Given the description of an element on the screen output the (x, y) to click on. 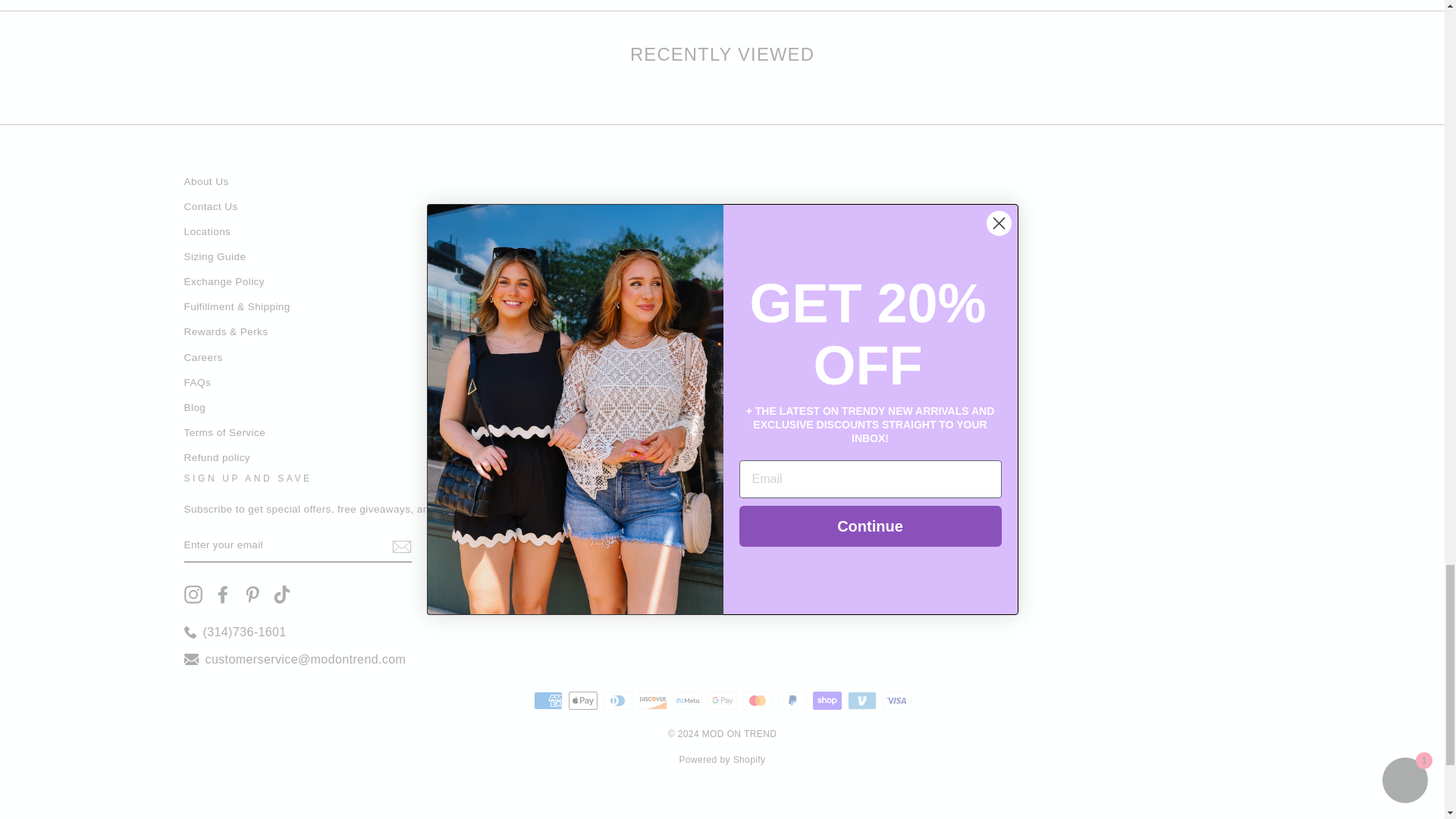
Discover (652, 700)
Diners Club (617, 700)
MOD ON TREND on TikTok (282, 594)
MOD ON TREND on Pinterest (251, 594)
Apple Pay (582, 700)
MOD ON TREND on Facebook (222, 594)
MOD ON TREND on Instagram (192, 594)
American Express (548, 700)
